Given the description of an element on the screen output the (x, y) to click on. 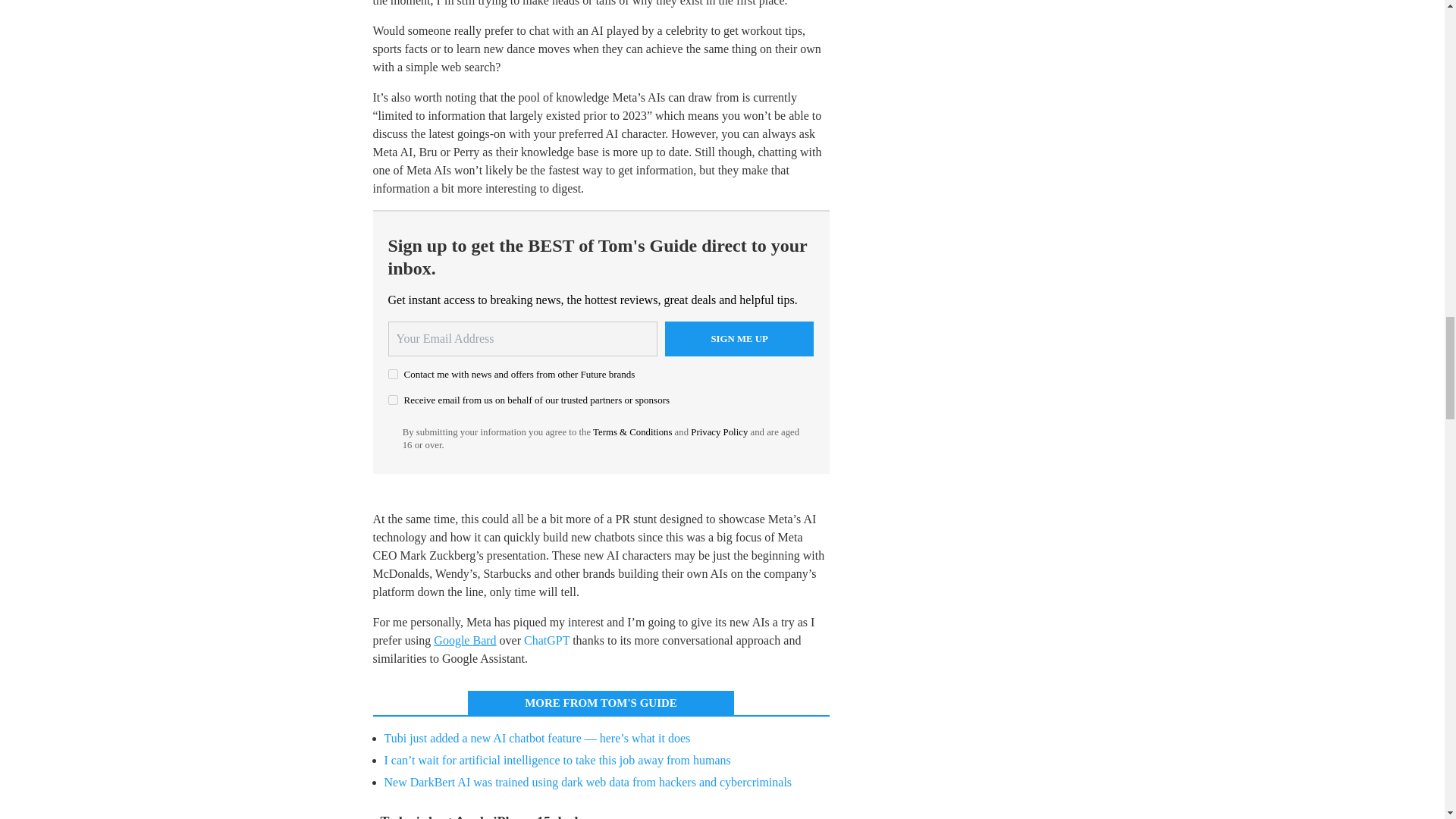
Sign me up (739, 338)
on (392, 399)
on (392, 374)
